Given the description of an element on the screen output the (x, y) to click on. 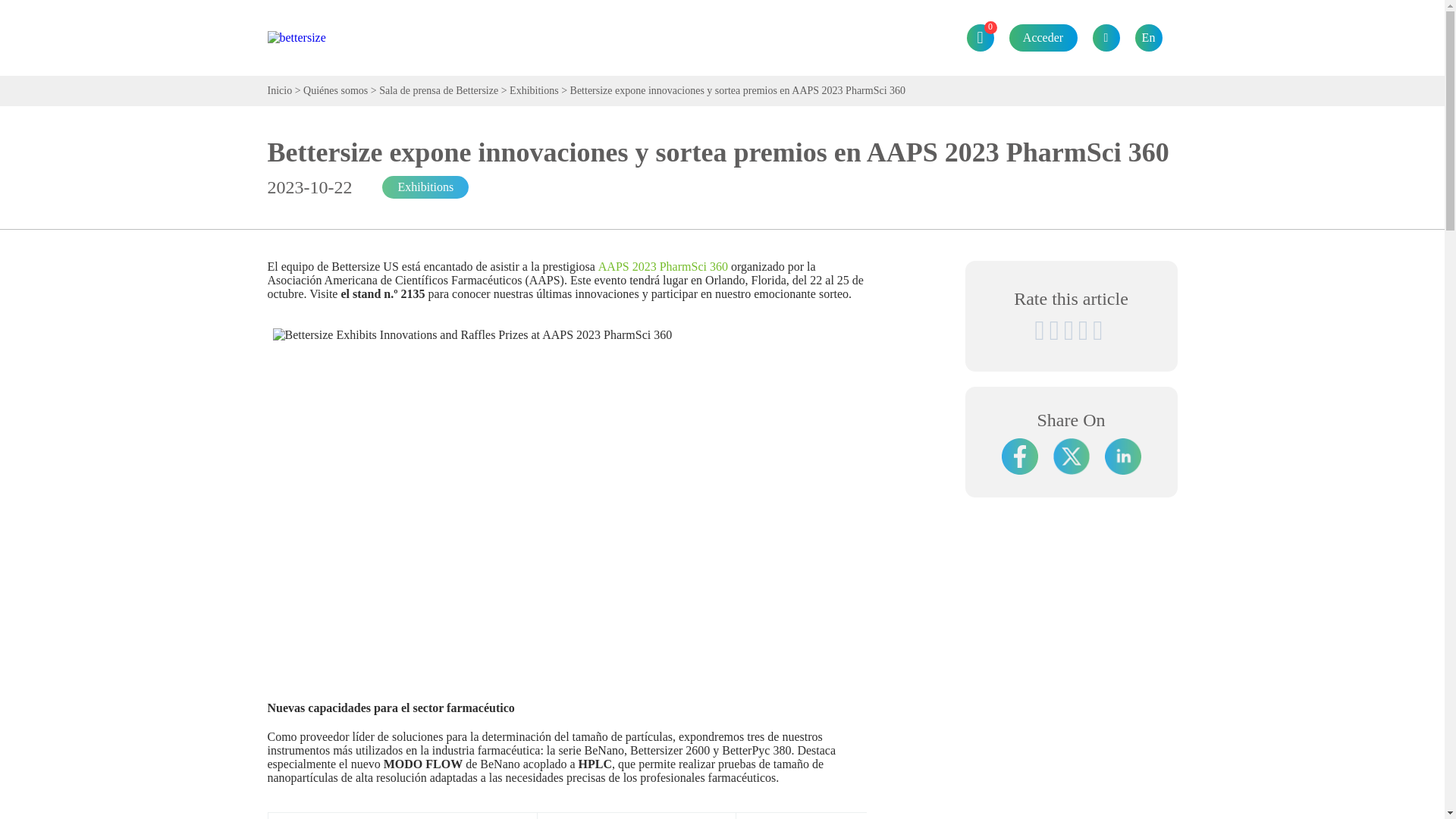
Producto (484, 7)
